Given the description of an element on the screen output the (x, y) to click on. 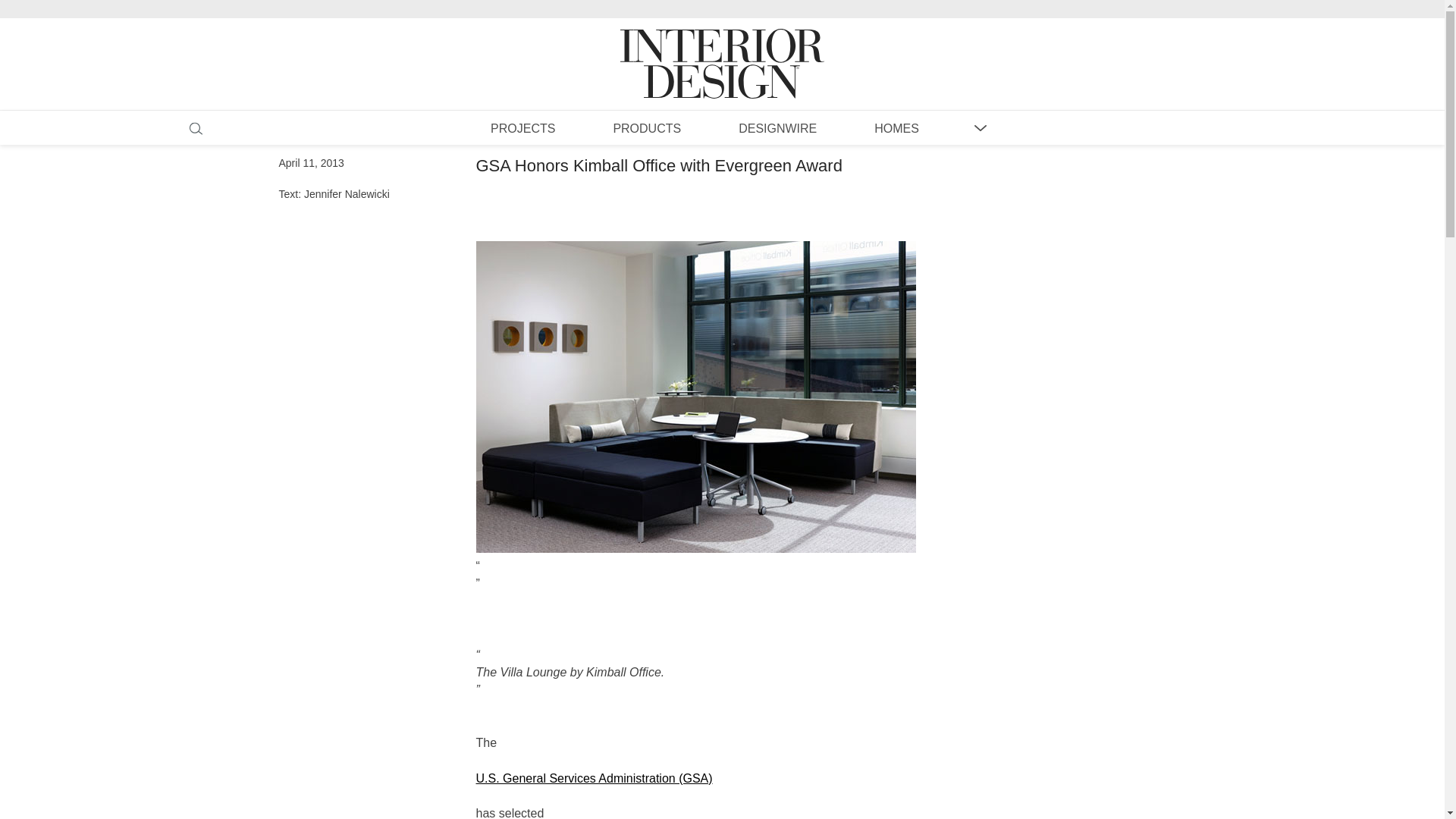
PRODUCTS (646, 127)
HOMES (896, 127)
PROJECTS (522, 127)
DESIGNWIRE (777, 127)
Interior Design (721, 49)
